Given the description of an element on the screen output the (x, y) to click on. 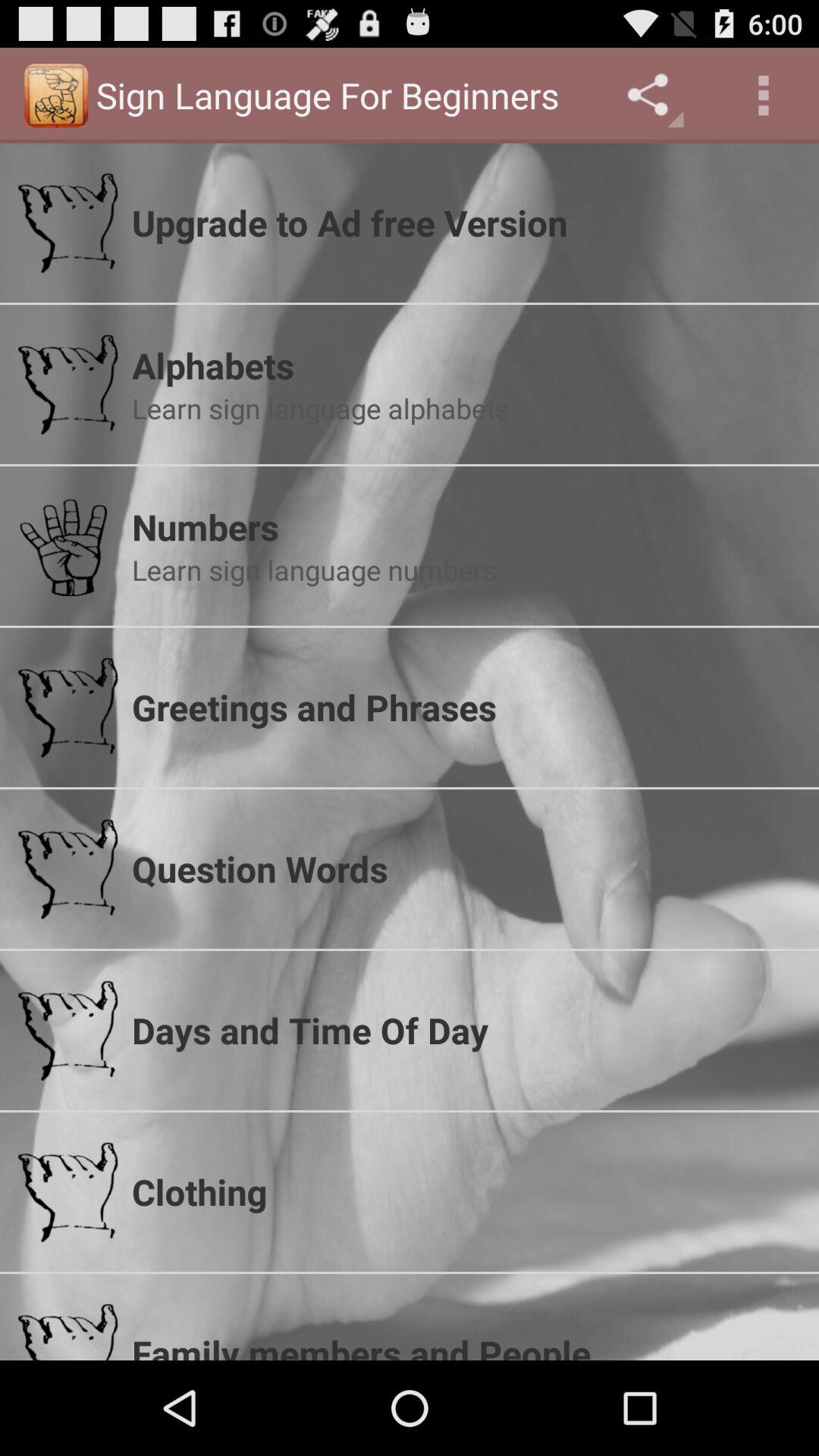
click days and time icon (465, 1030)
